Given the description of an element on the screen output the (x, y) to click on. 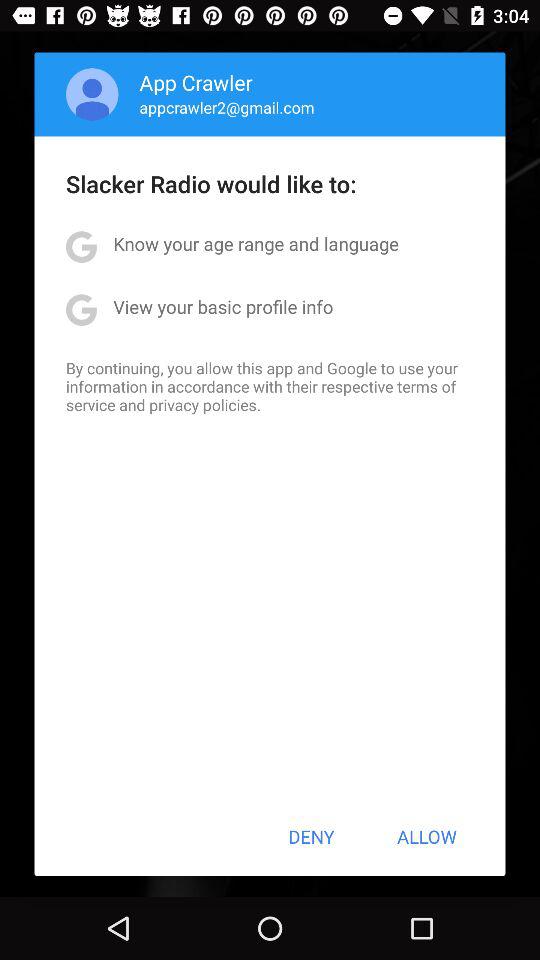
launch icon below slacker radio would icon (255, 243)
